Given the description of an element on the screen output the (x, y) to click on. 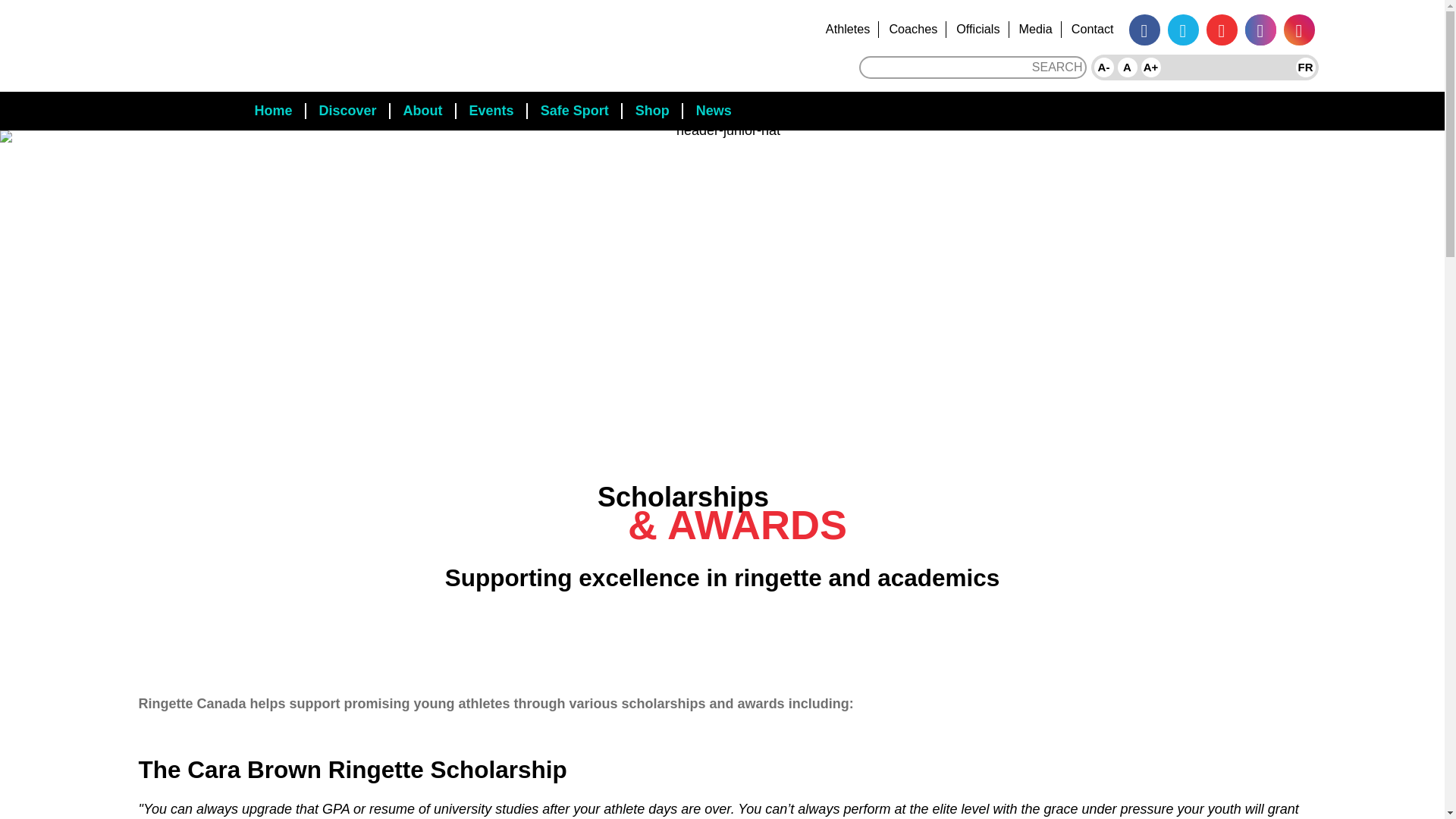
Search (1057, 67)
Reset font size (1127, 66)
Increase font size (1150, 66)
Search (1057, 67)
Search: (972, 67)
Decrease font size (1103, 66)
